Given the description of an element on the screen output the (x, y) to click on. 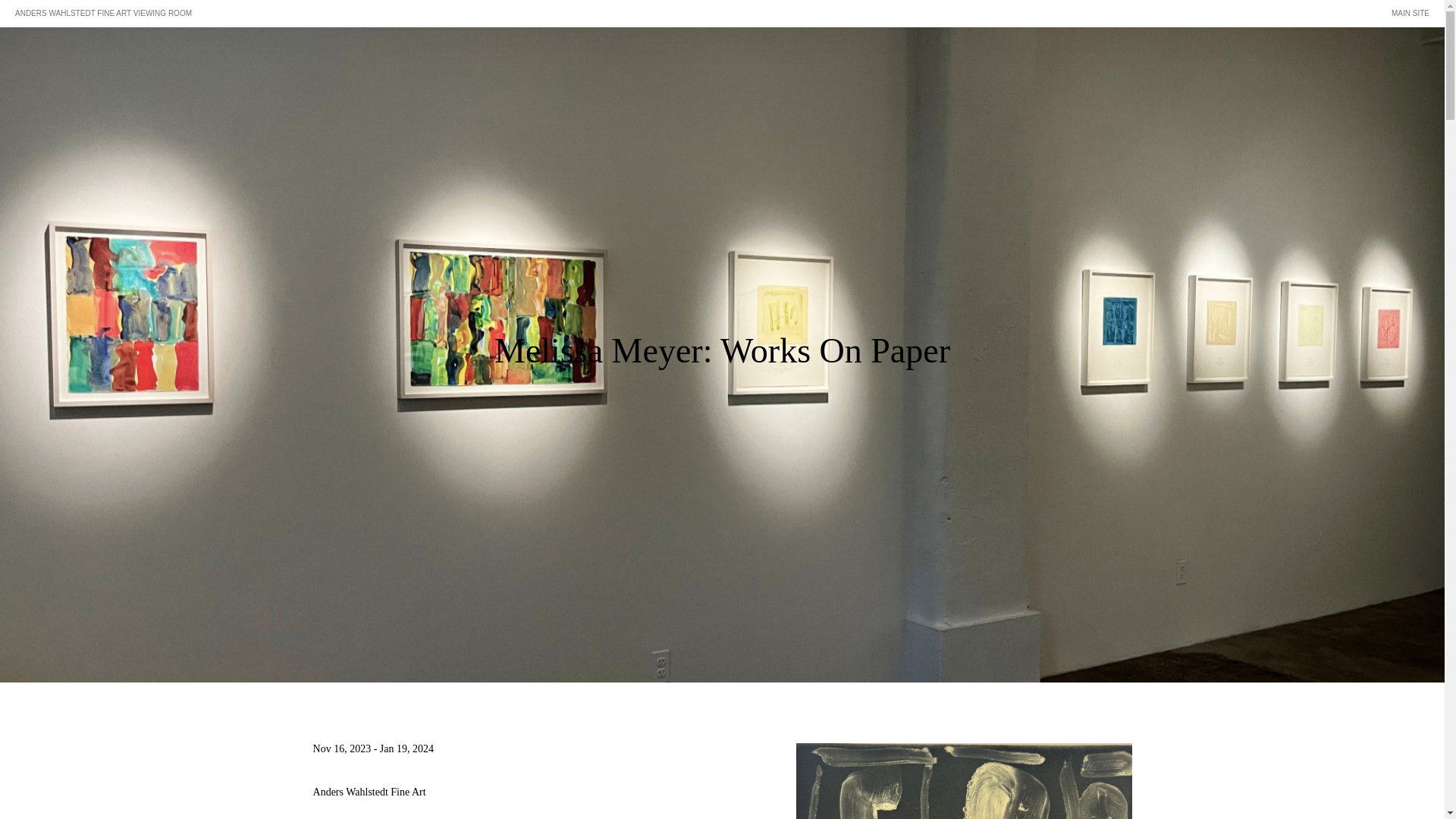
ANDERS WAHLSTEDT FINE ART VIEWING ROOM (103, 13)
ITE (1422, 13)
MAIN S (1403, 13)
